Given the description of an element on the screen output the (x, y) to click on. 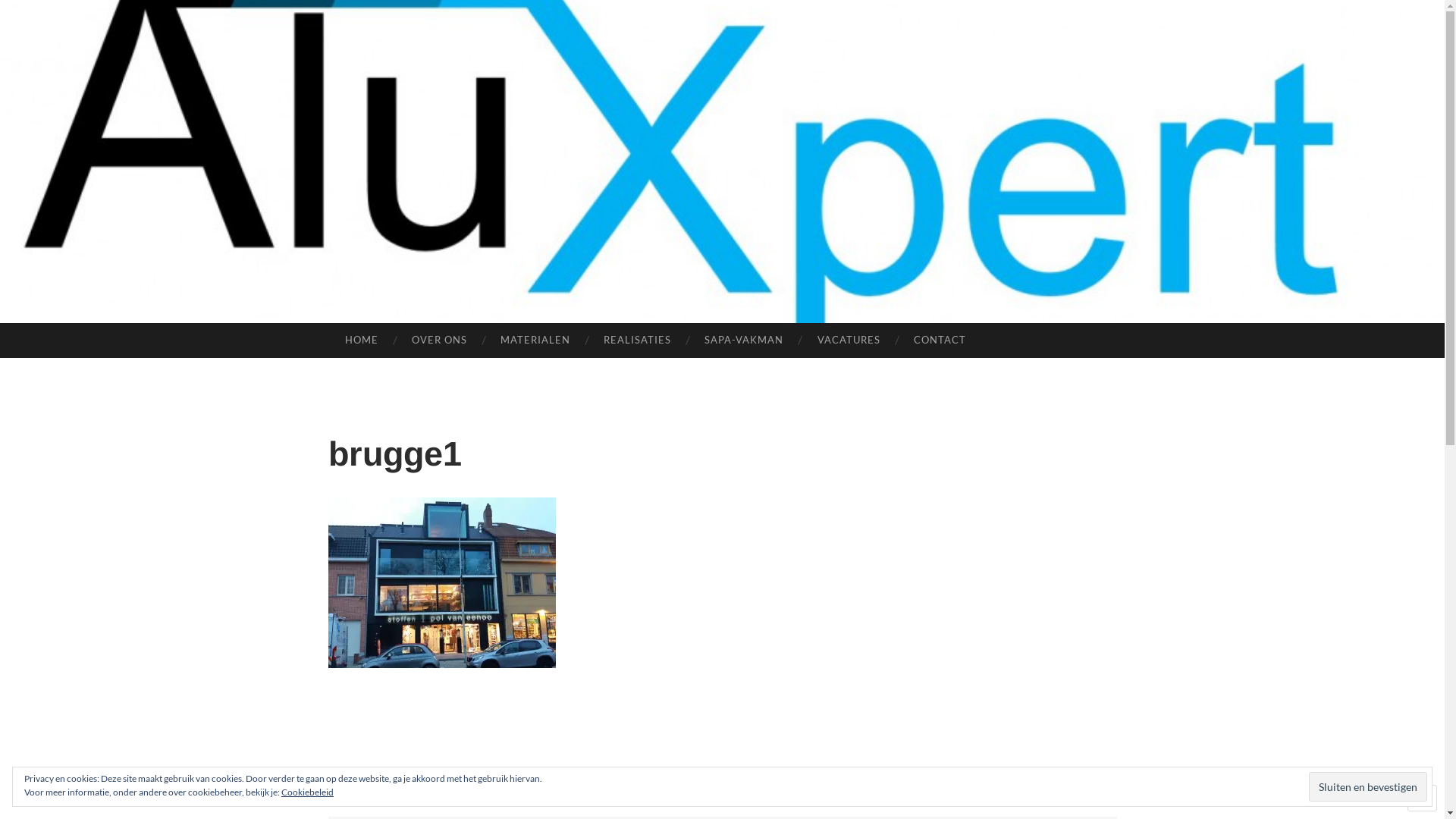
VACATURES Element type: text (848, 340)
Cookiebeleid Element type: text (307, 791)
Sluiten en bevestigen Element type: text (1367, 786)
ALUXPERT: UW SAPA-VAKMAN Element type: text (768, 380)
HOME Element type: text (360, 340)
OVER ONS Element type: text (439, 340)
REALISATIES Element type: text (636, 340)
SAPA-VAKMAN Element type: text (743, 340)
CONTACT Element type: text (939, 340)
MATERIALEN Element type: text (534, 340)
